Given the description of an element on the screen output the (x, y) to click on. 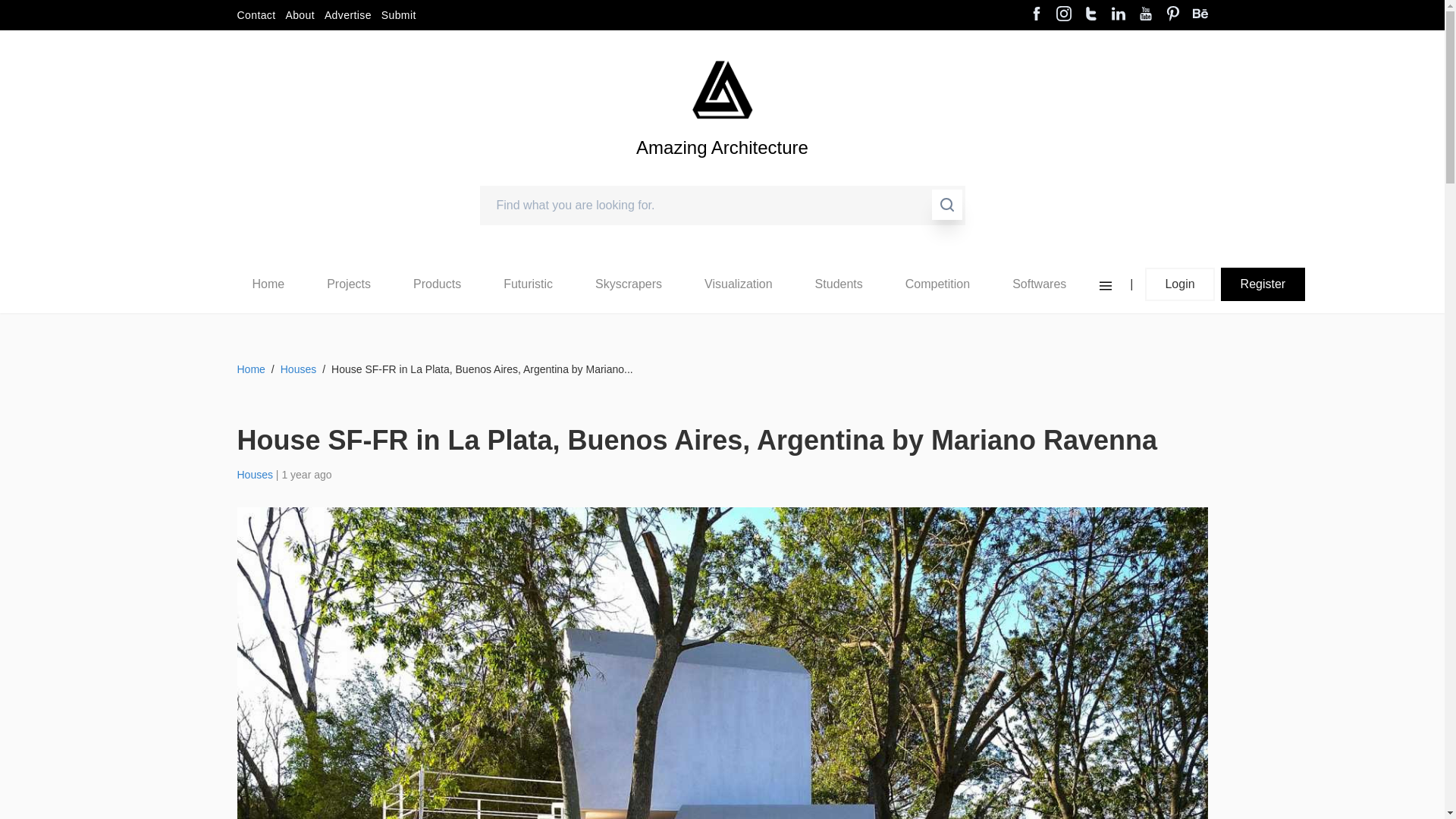
Amazing Architecture (722, 173)
Futuristic (528, 283)
Amazing Architecture (722, 173)
Contact (255, 15)
Skyscrapers (628, 283)
Projects (348, 283)
Home (267, 284)
About (299, 15)
Contact us page (255, 15)
Projects (348, 284)
